Given the description of an element on the screen output the (x, y) to click on. 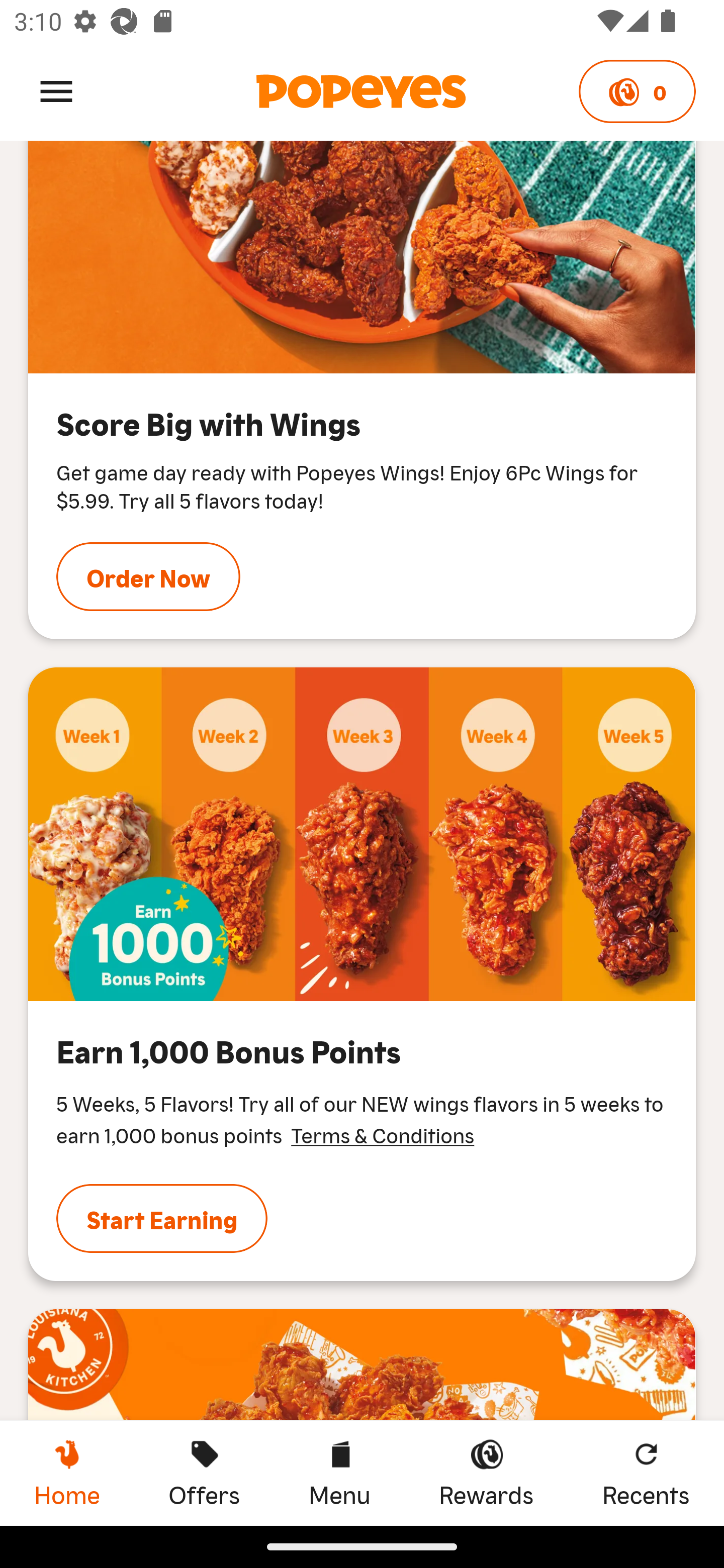
Menu  (56, 90)
0 Points 0 (636, 91)
Score Big with Wings (361, 257)
Order Now (148, 576)
Earn 1,000 Bonus Points (361, 833)
Start Earning (161, 1217)
Home, current page Home Home, current page (66, 1472)
Offers Offers Offers (203, 1472)
Menu Menu Menu (339, 1472)
Rewards Rewards Rewards (486, 1472)
Recents Recents Recents (646, 1472)
